Given the description of an element on the screen output the (x, y) to click on. 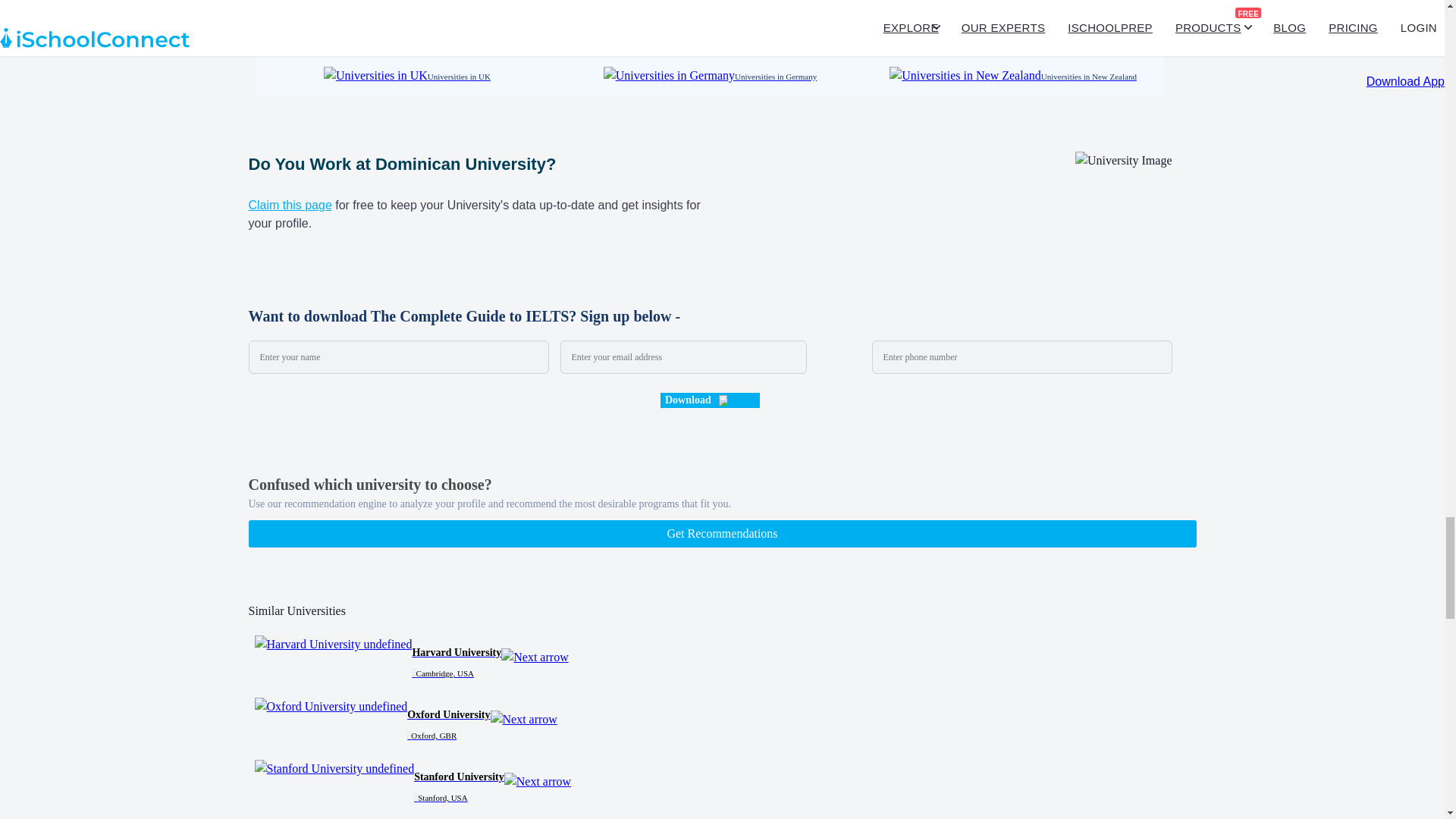
Oxford University (330, 706)
Stanford University (334, 769)
Harvard University (333, 644)
